Given the description of an element on the screen output the (x, y) to click on. 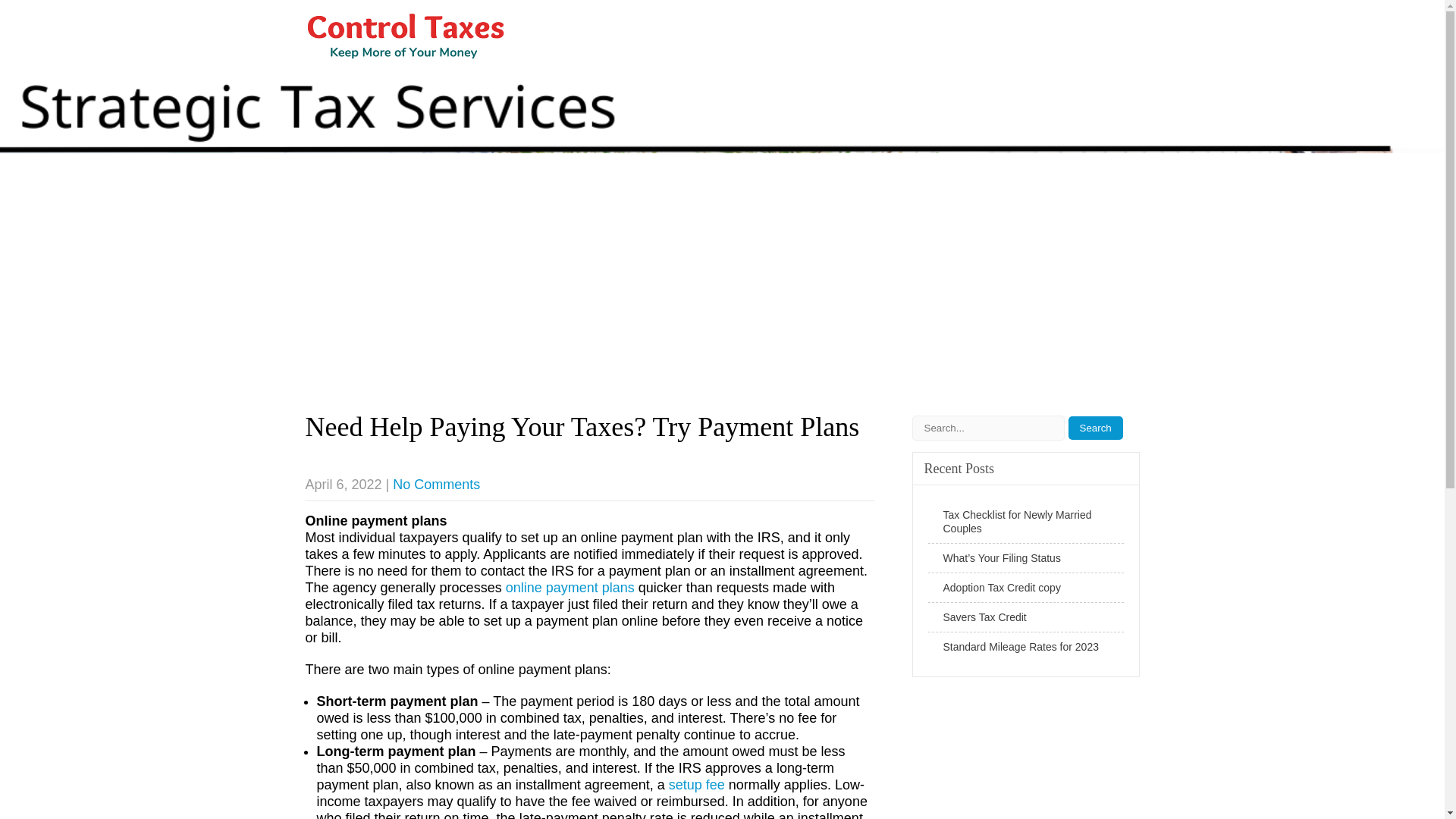
online payment plans (569, 587)
Search (1095, 427)
No Comments (436, 484)
setup fee (696, 784)
Savers Tax Credit (1026, 617)
Search (1095, 427)
Tax Checklist for Newly Married Couples (1026, 521)
Standard Mileage Rates for 2023 (1026, 646)
Top of Page (1401, 778)
Search (1095, 427)
Adoption Tax Credit copy (1026, 587)
